Given the description of an element on the screen output the (x, y) to click on. 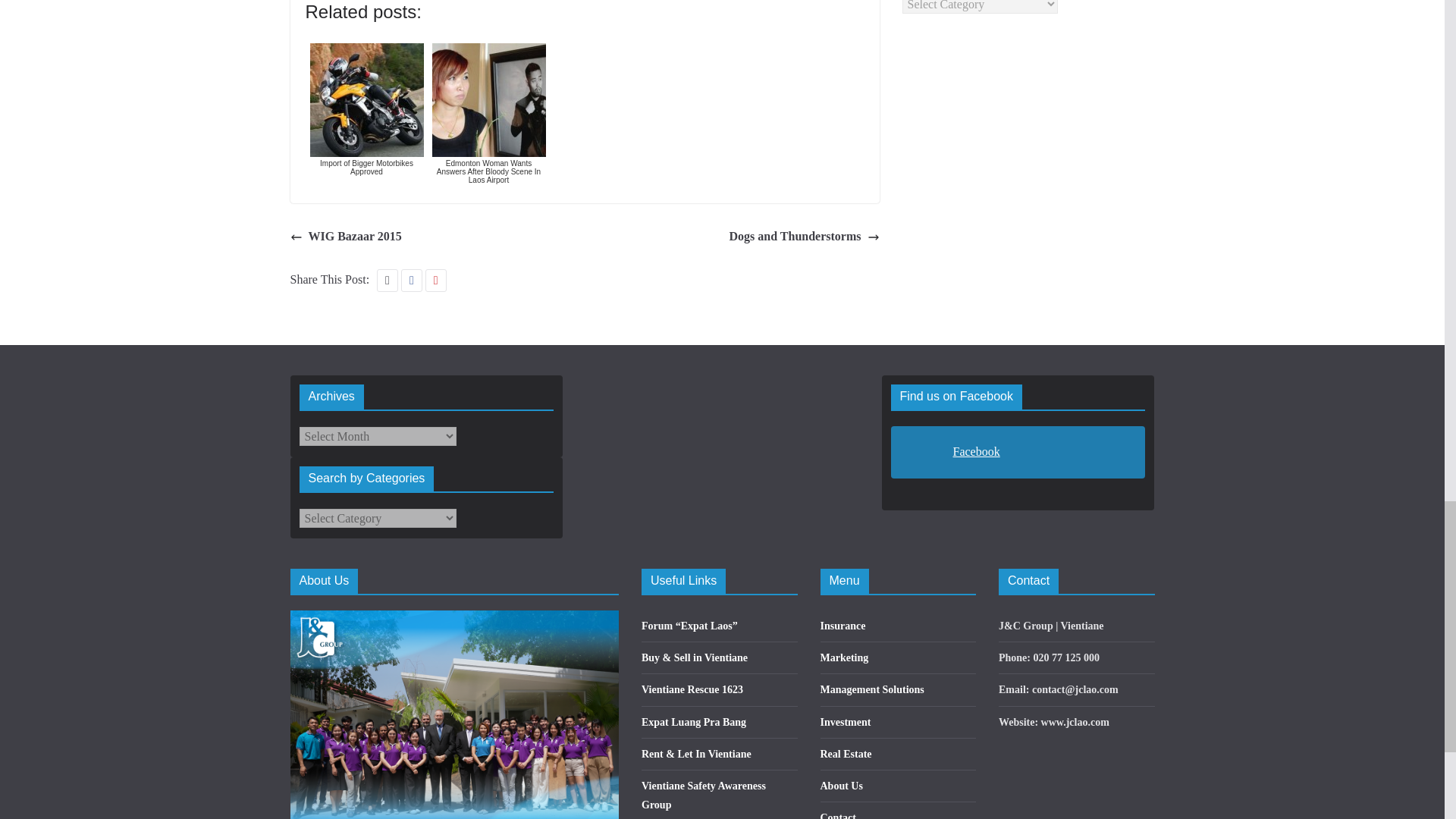
Dogs and Thunderstorms (804, 237)
WIG Bazaar 2015 (345, 237)
